Given the description of an element on the screen output the (x, y) to click on. 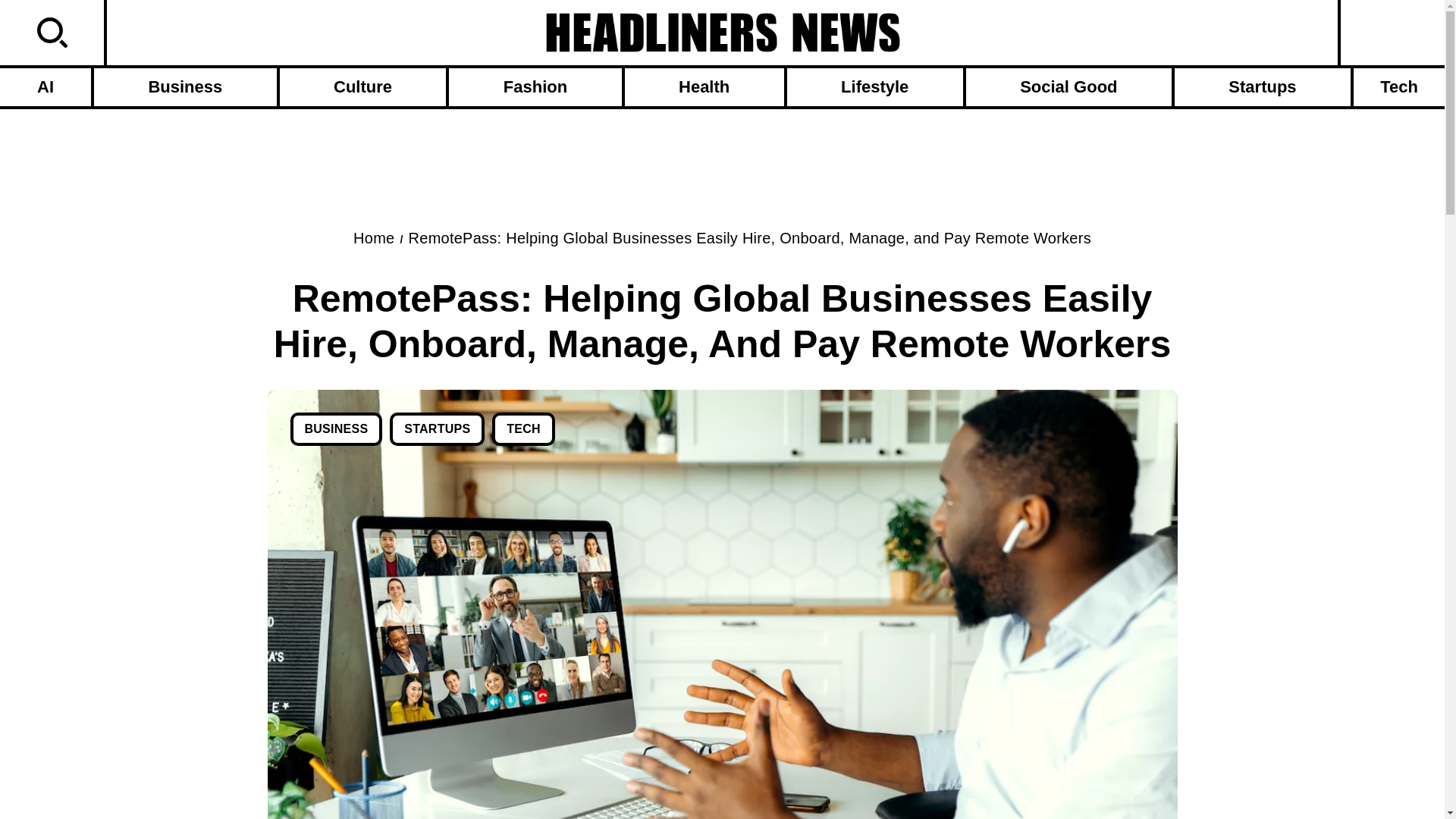
Health (704, 86)
Lifestyle (874, 86)
BUSINESS (335, 428)
Startups (1262, 86)
Fashion (534, 86)
Business (185, 86)
Home (373, 238)
Culture (362, 86)
STARTUPS (437, 428)
